Given the description of an element on the screen output the (x, y) to click on. 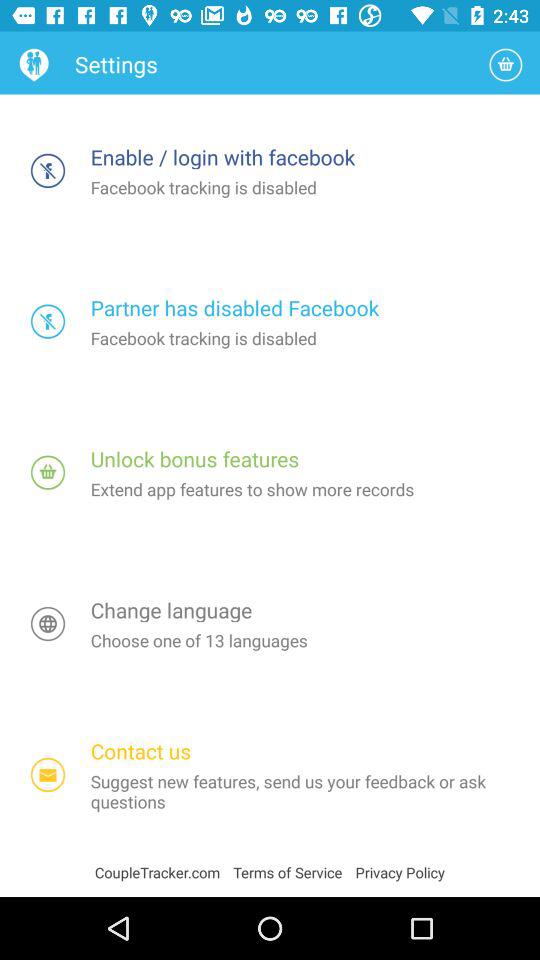
icon selection (47, 472)
